Given the description of an element on the screen output the (x, y) to click on. 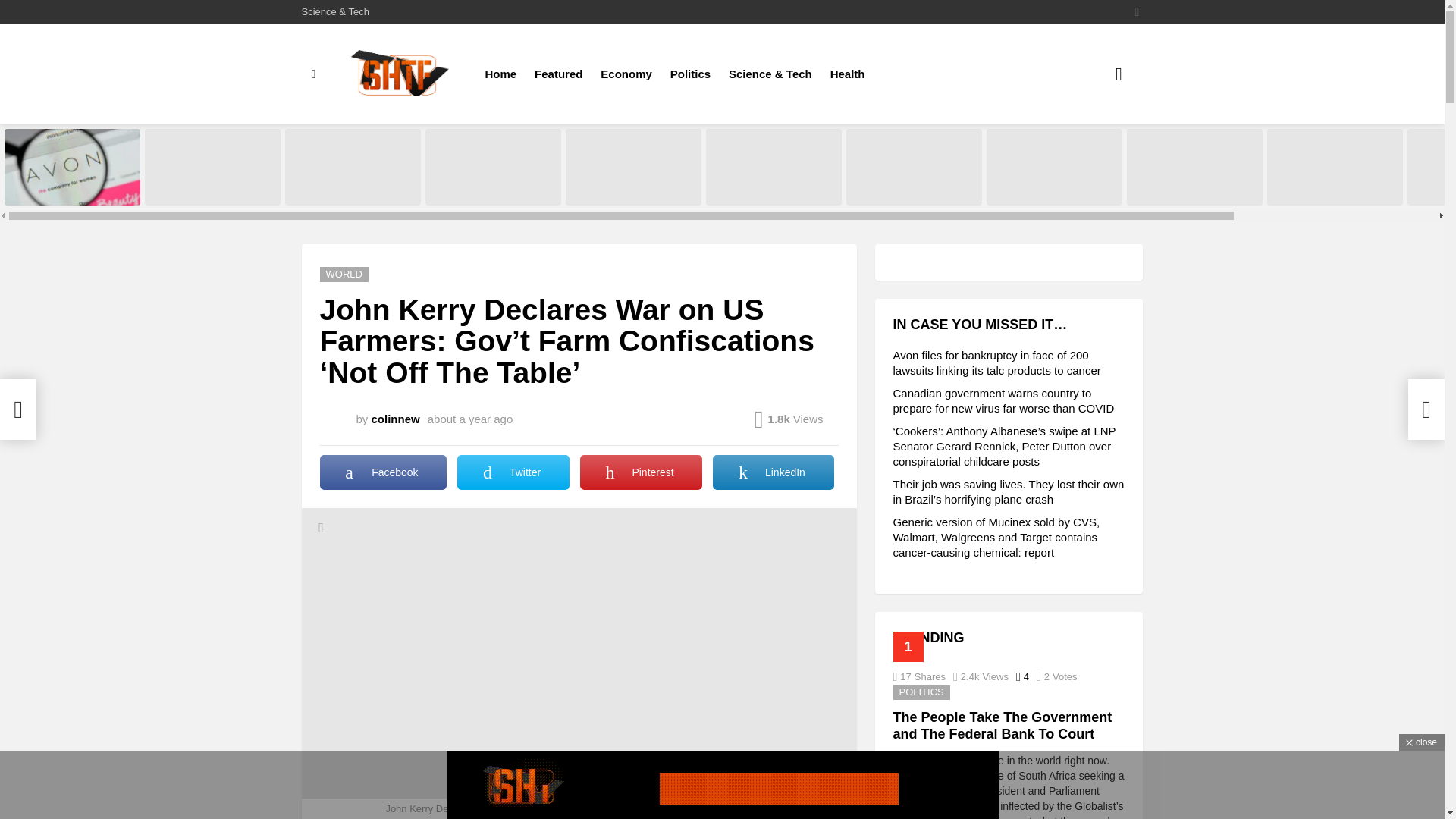
May 23, 2023, 6:10 am (470, 418)
Politics (689, 74)
EU sends warning letter to Musk ahead of Trump interview (773, 166)
Featured (558, 74)
Share on Facebook (383, 472)
Menu (313, 74)
